Given the description of an element on the screen output the (x, y) to click on. 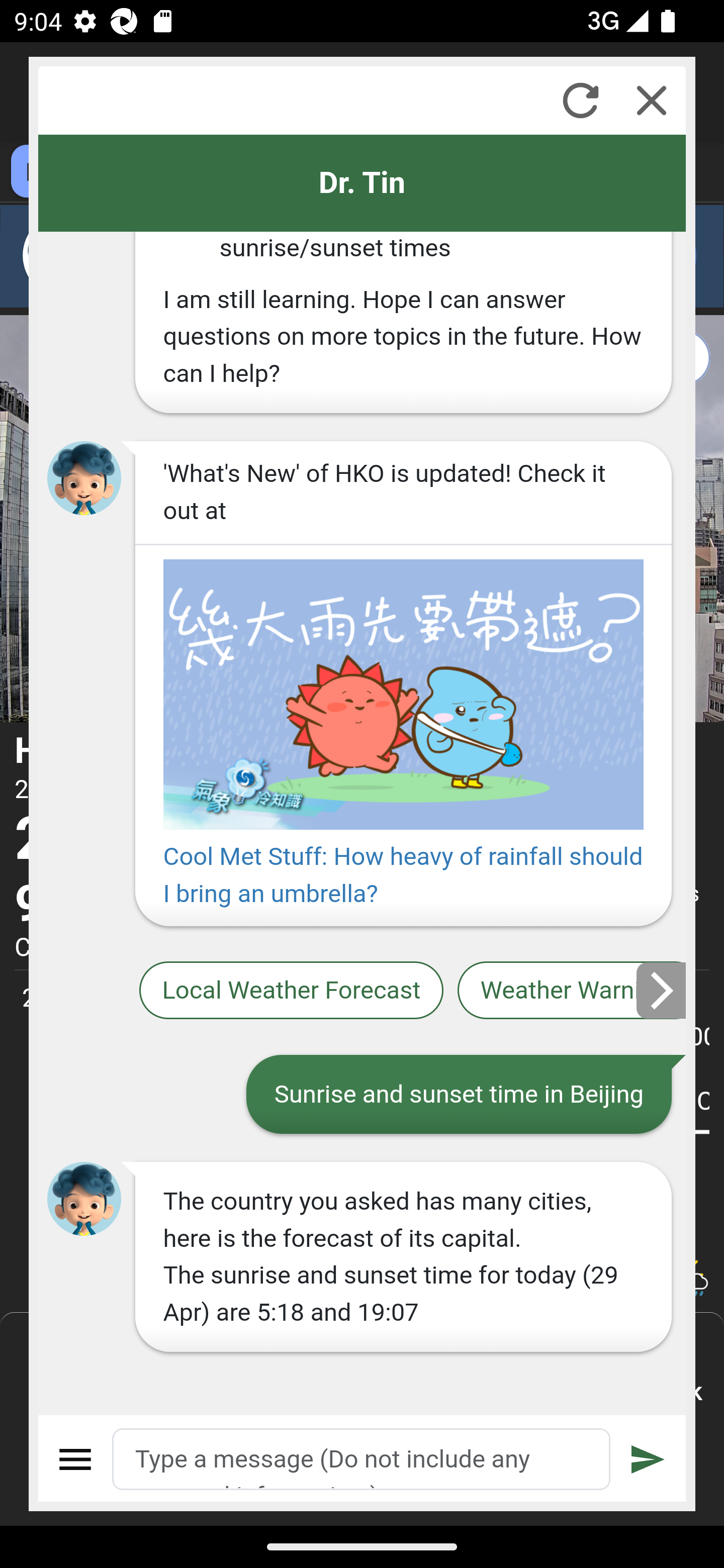
Refresh (580, 100)
Close (651, 100)
Local Weather Forecast (291, 990)
Weather Warnings (571, 990)
Next slide (661, 990)
Menu (75, 1458)
Submit (648, 1458)
